Given the description of an element on the screen output the (x, y) to click on. 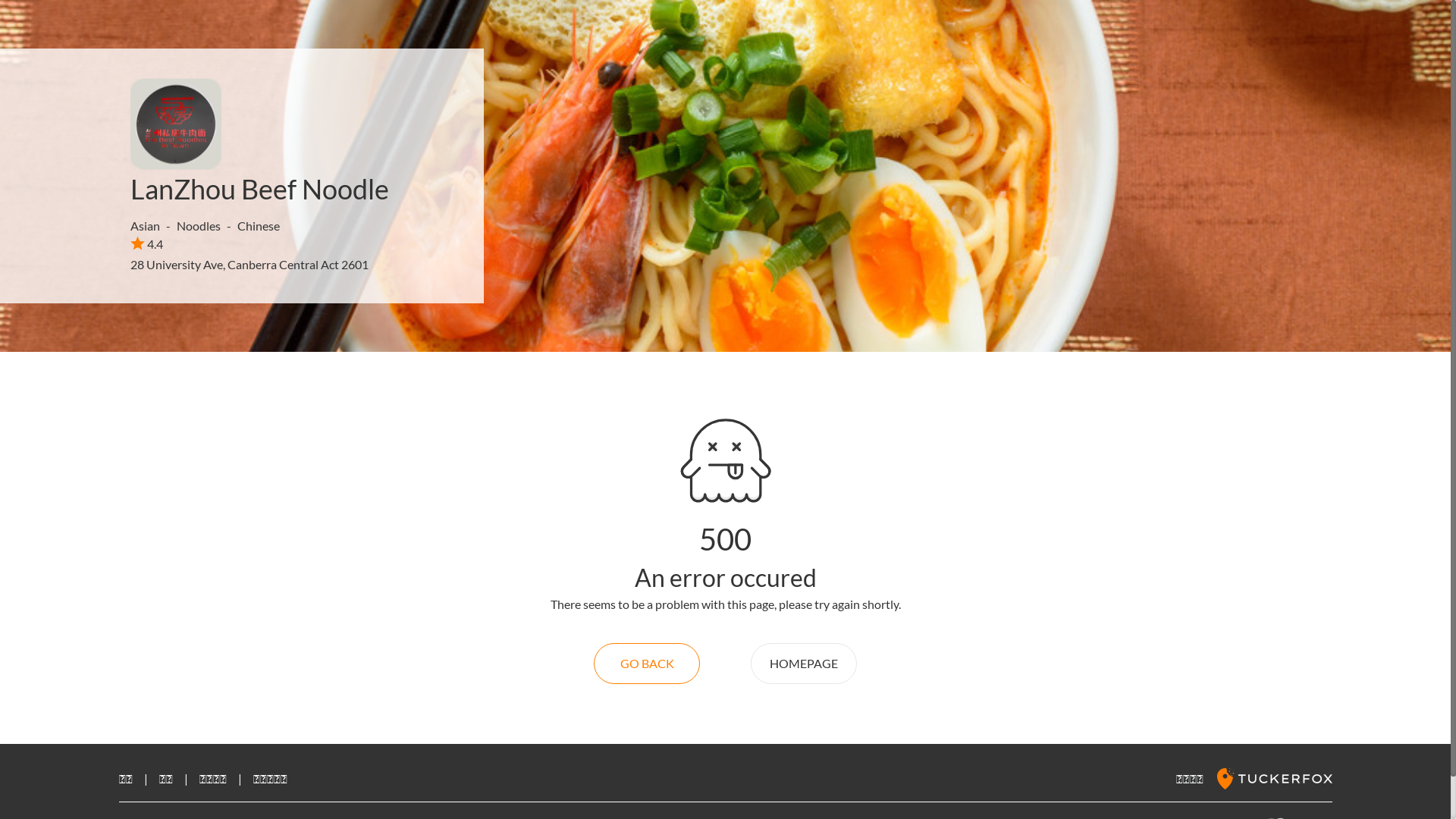
HOMEPAGE Element type: text (803, 663)
GO BACK Element type: text (646, 663)
LanZhou Beef Noodle Element type: text (259, 188)
4.4 Element type: text (146, 243)
